Given the description of an element on the screen output the (x, y) to click on. 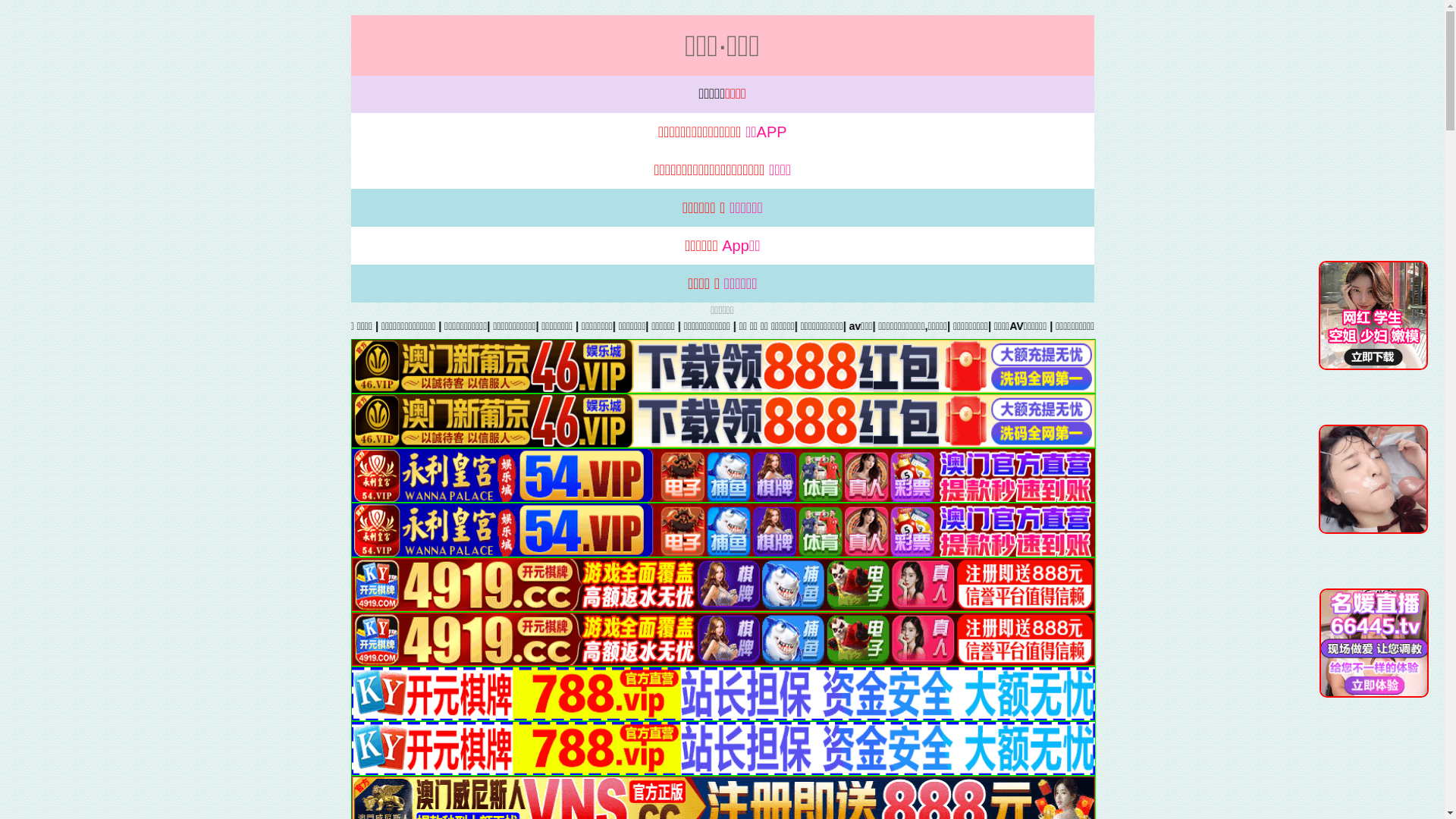
| Element type: text (463, 326)
| Element type: text (138, 326)
| Element type: text (345, 326)
| Element type: text (1073, 326)
| Element type: text (166, 326)
| Element type: text (1157, 326)
| Element type: text (921, 326)
| Element type: text (714, 326)
| Element type: text (813, 326)
| Element type: text (754, 326)
| Element type: text (559, 326)
| Element type: text (874, 326)
| Element type: text (967, 326)
| Element type: text (1291, 326)
| Element type: text (1263, 326)
| Element type: text (259, 326)
| Element type: text (1403, 326)
| Element type: text (302, 326)
| Element type: text (1364, 326)
| Element type: text (675, 326)
| Element type: text (1006, 326)
| Element type: text (208, 326)
| Element type: text (1104, 326)
| Element type: text (613, 326)
| Element type: text (1042, 326)
| Element type: text (412, 326)
| Element type: text (1217, 326)
| Element type: text (514, 326)
